Given the description of an element on the screen output the (x, y) to click on. 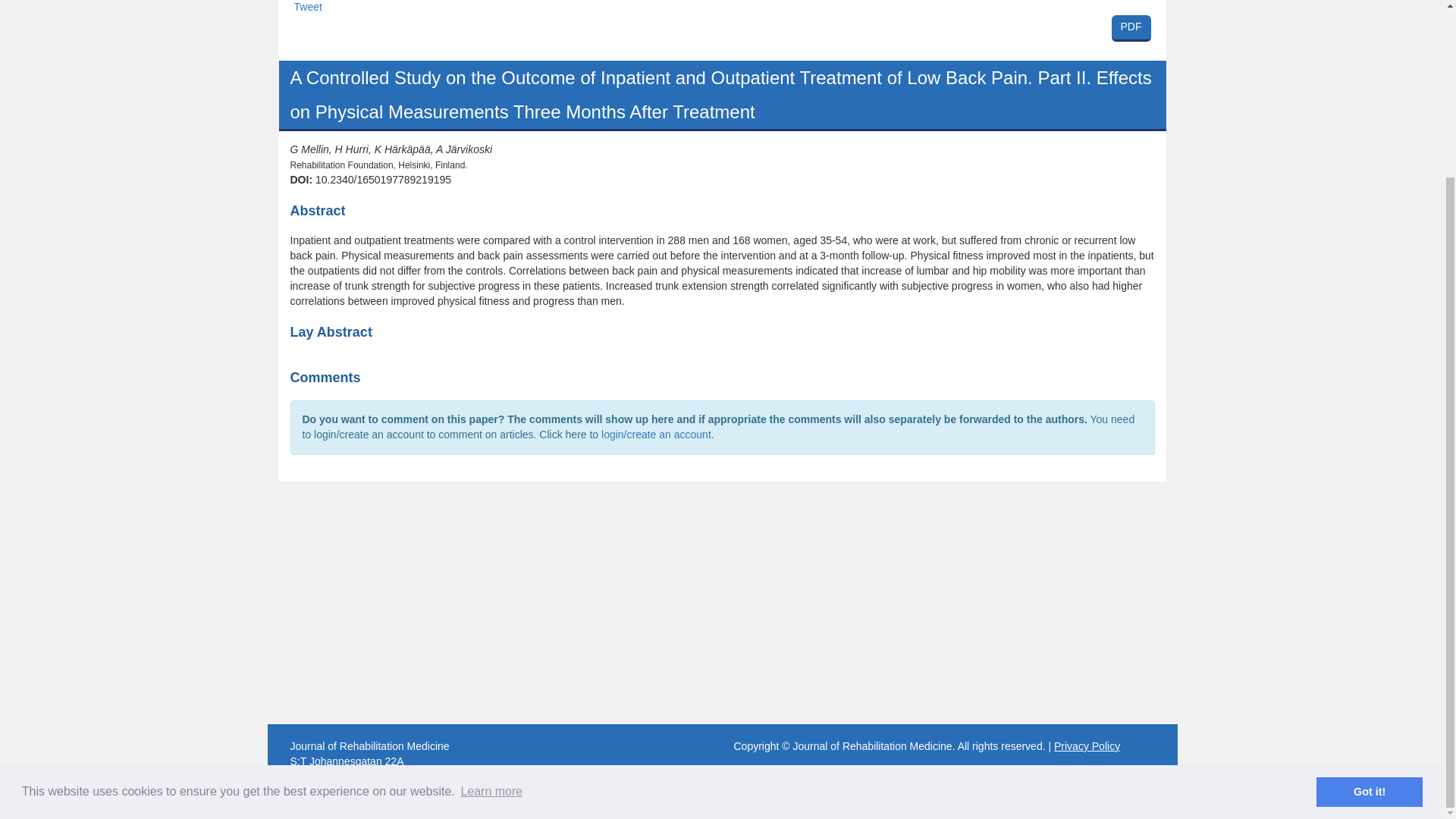
Got it! (1369, 575)
PDF (1131, 28)
Learn more (722, 30)
Tweet (491, 575)
Privacy Policy (307, 6)
